Given the description of an element on the screen output the (x, y) to click on. 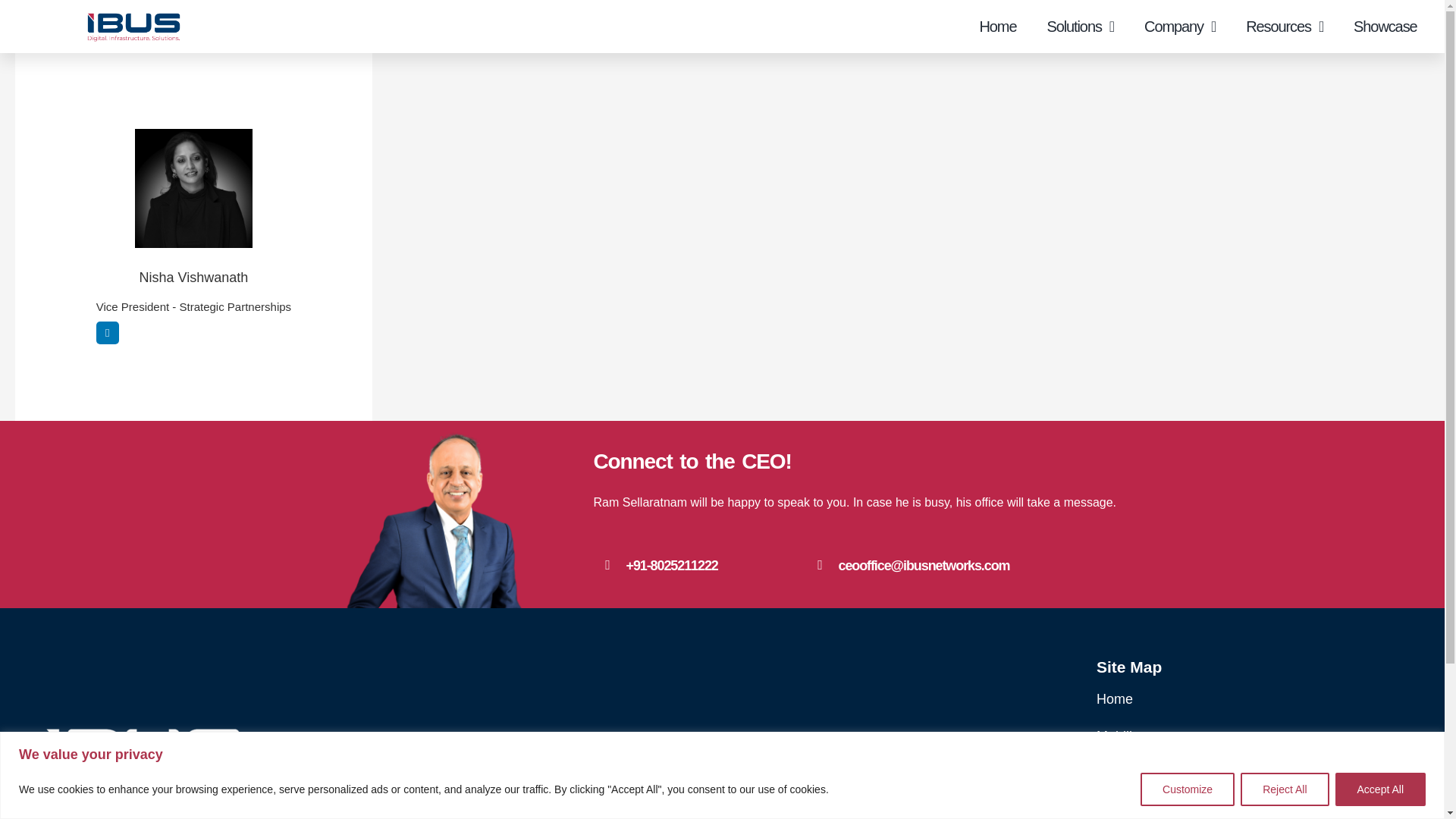
Accept All (1380, 788)
Reject All (1283, 788)
Solutions (1079, 26)
Showcase (1384, 26)
Home (996, 26)
Linkedin (107, 332)
Company (1179, 26)
Customize (1187, 788)
Resources (1284, 26)
